Given the description of an element on the screen output the (x, y) to click on. 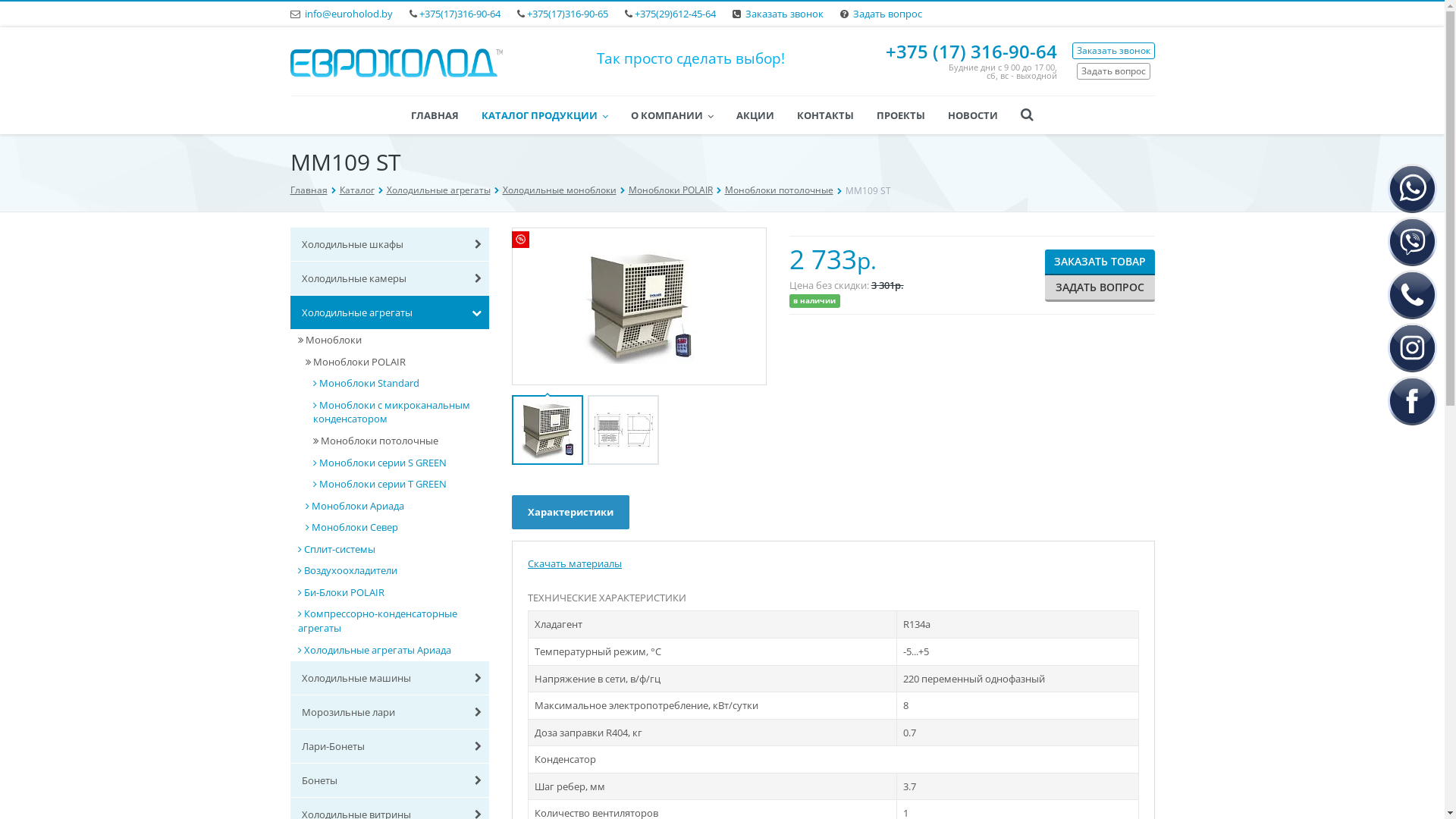
+375(29)612-45-64 Element type: text (674, 13)
MM109 ST Element type: hover (638, 306)
Instagram Element type: hover (1412, 347)
phone Element type: hover (1412, 294)
Facebook Element type: hover (1412, 400)
Viber Element type: hover (1412, 241)
+375(17)316-90-65 Element type: text (566, 13)
WhatsApp Element type: hover (1412, 188)
info@euroholod.by Element type: text (348, 13)
+375 (17) 316-90-64 Element type: text (971, 50)
+375(17)316-90-64 Element type: text (458, 13)
